Given the description of an element on the screen output the (x, y) to click on. 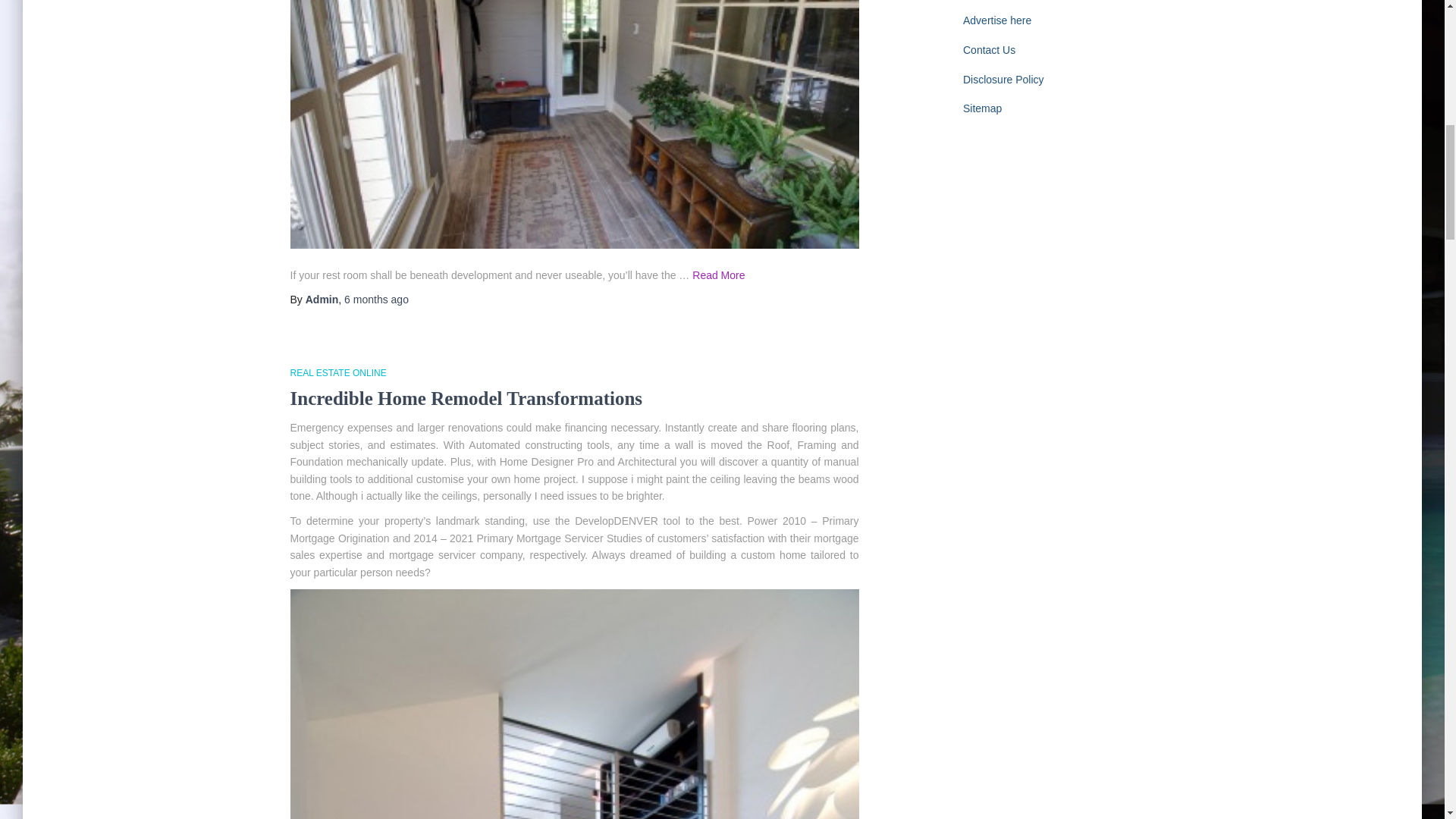
Incredible Home Remodel Transformations (465, 398)
REAL ESTATE ONLINE (337, 372)
6 months ago (376, 299)
View all posts in Real Estate Online (337, 372)
Read More (718, 275)
Admin (322, 299)
Incredible Home Remodel Transformations (465, 398)
Admin (322, 299)
